Given the description of an element on the screen output the (x, y) to click on. 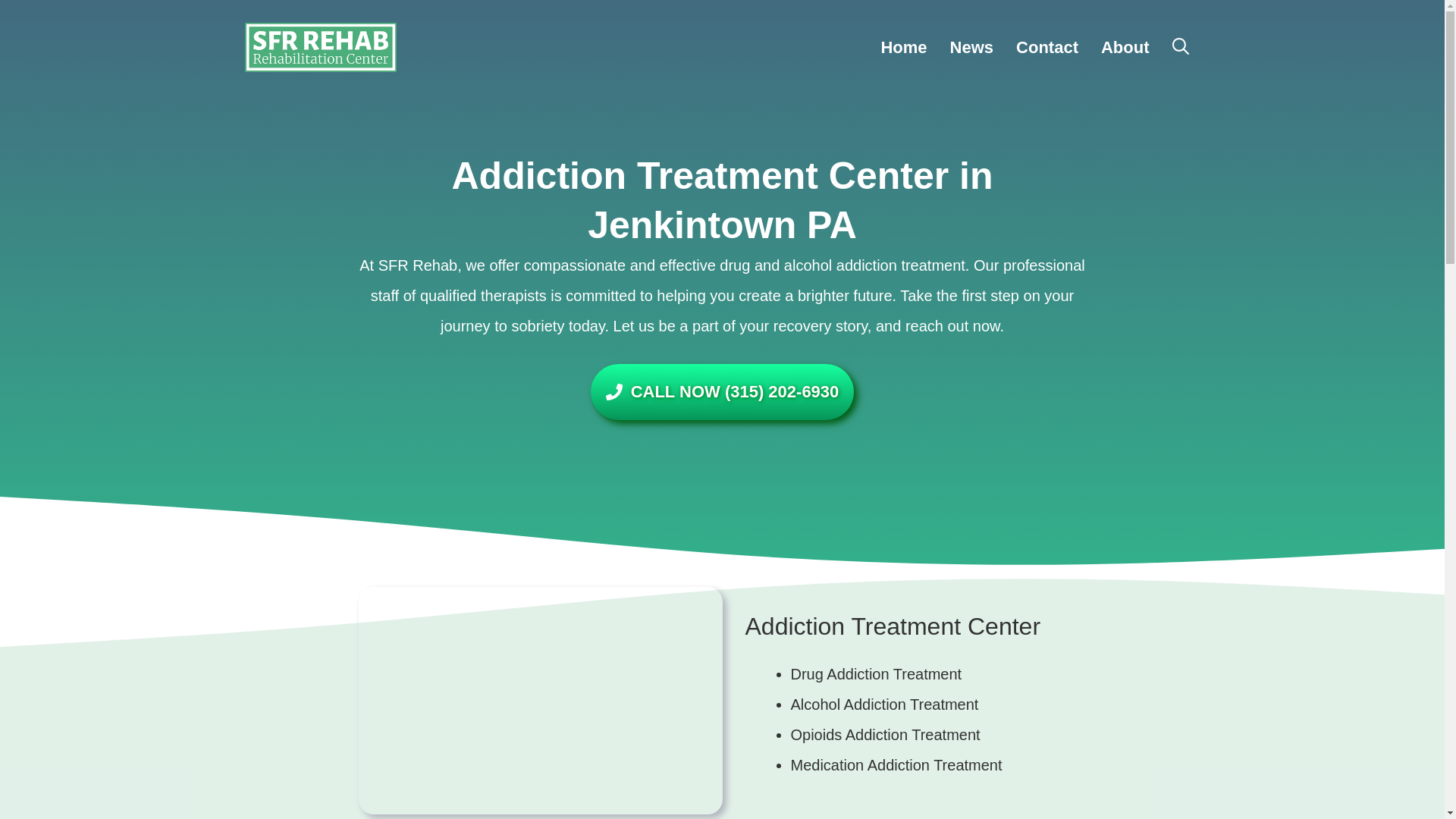
Contact (1046, 47)
Home (903, 47)
About (1124, 47)
News (971, 47)
